Given the description of an element on the screen output the (x, y) to click on. 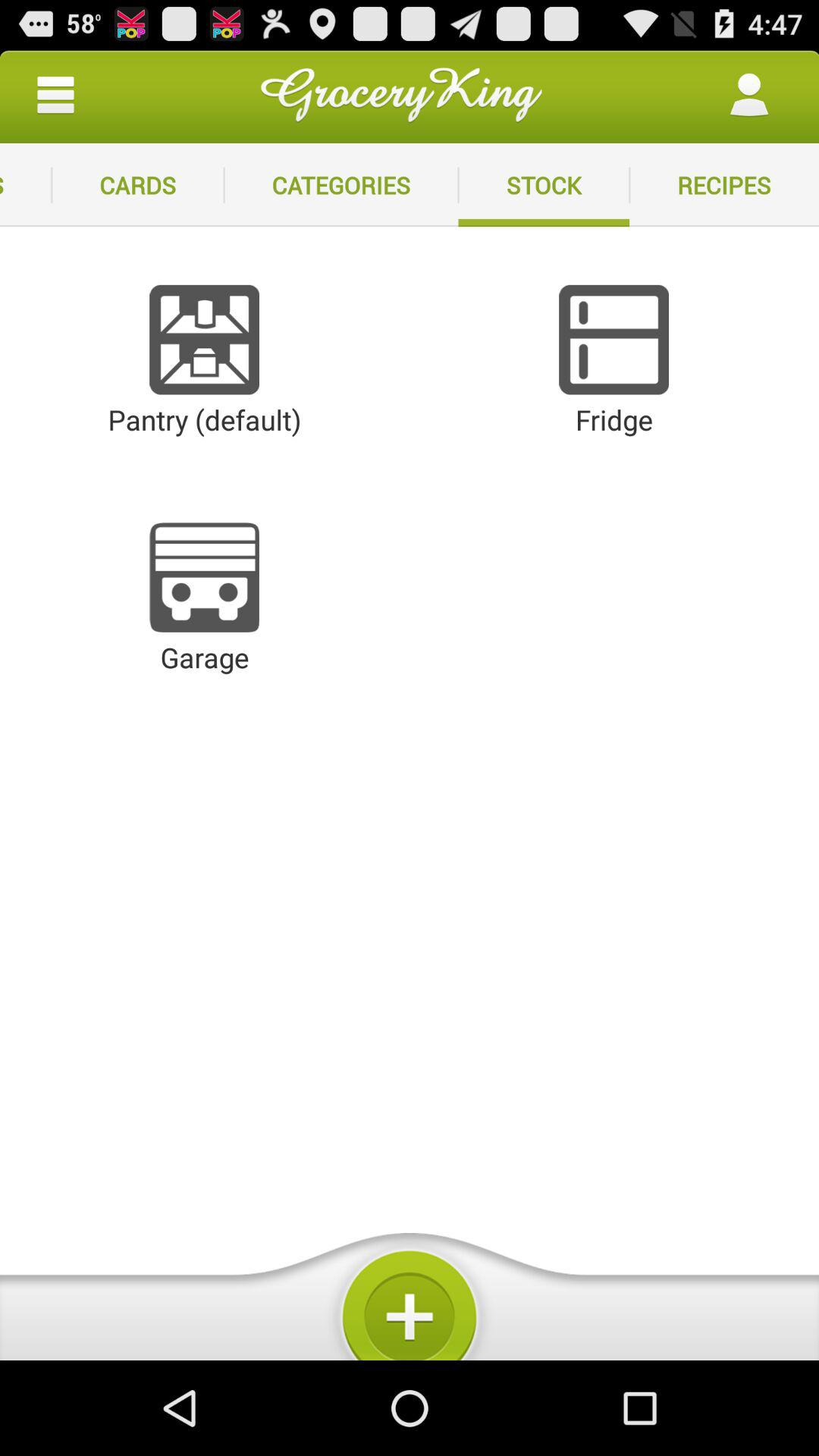
choose the icon next to categories app (543, 184)
